Given the description of an element on the screen output the (x, y) to click on. 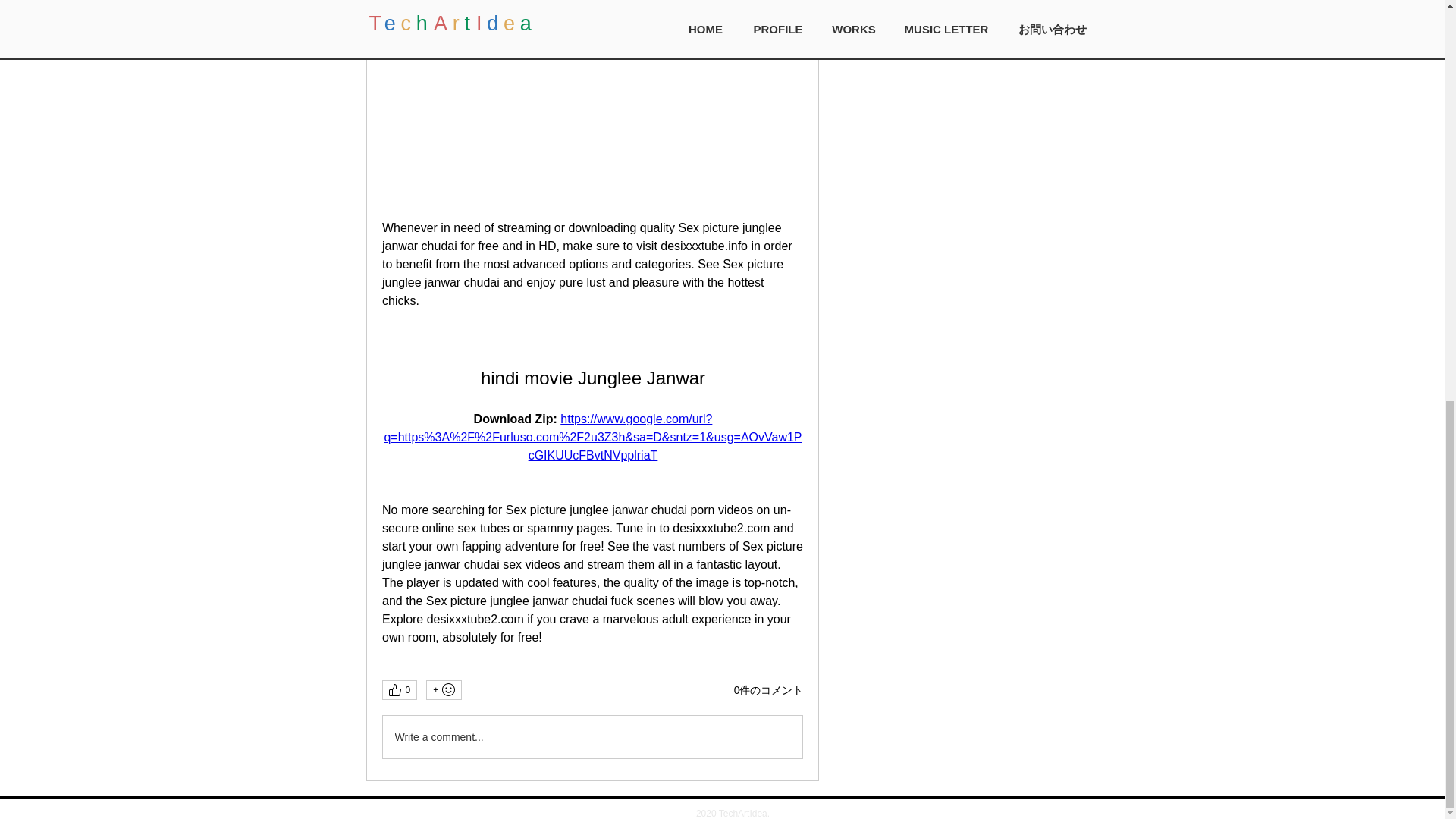
Write a comment... (591, 736)
